Given the description of an element on the screen output the (x, y) to click on. 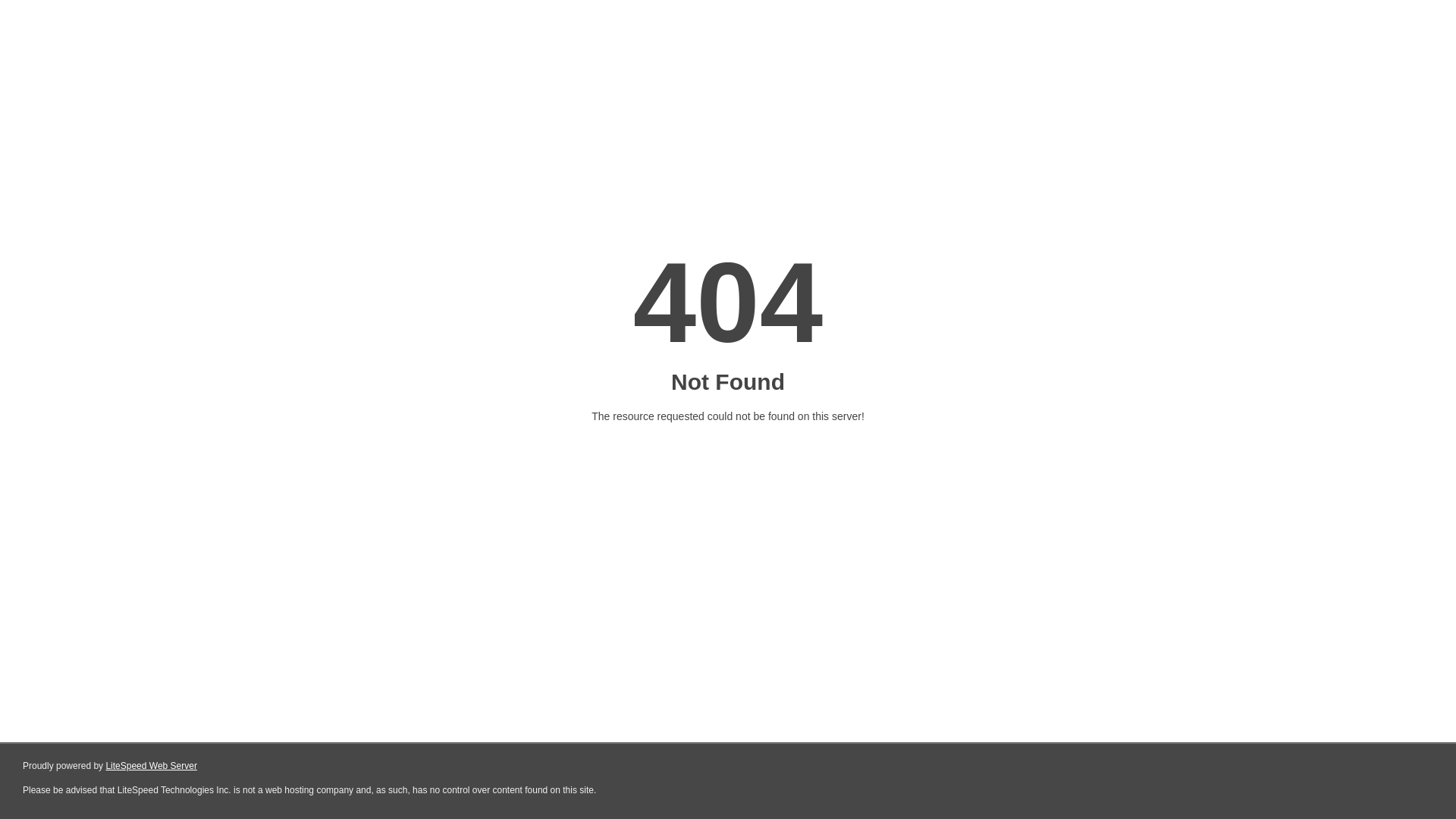
LiteSpeed Web Server Element type: text (151, 765)
